Given the description of an element on the screen output the (x, y) to click on. 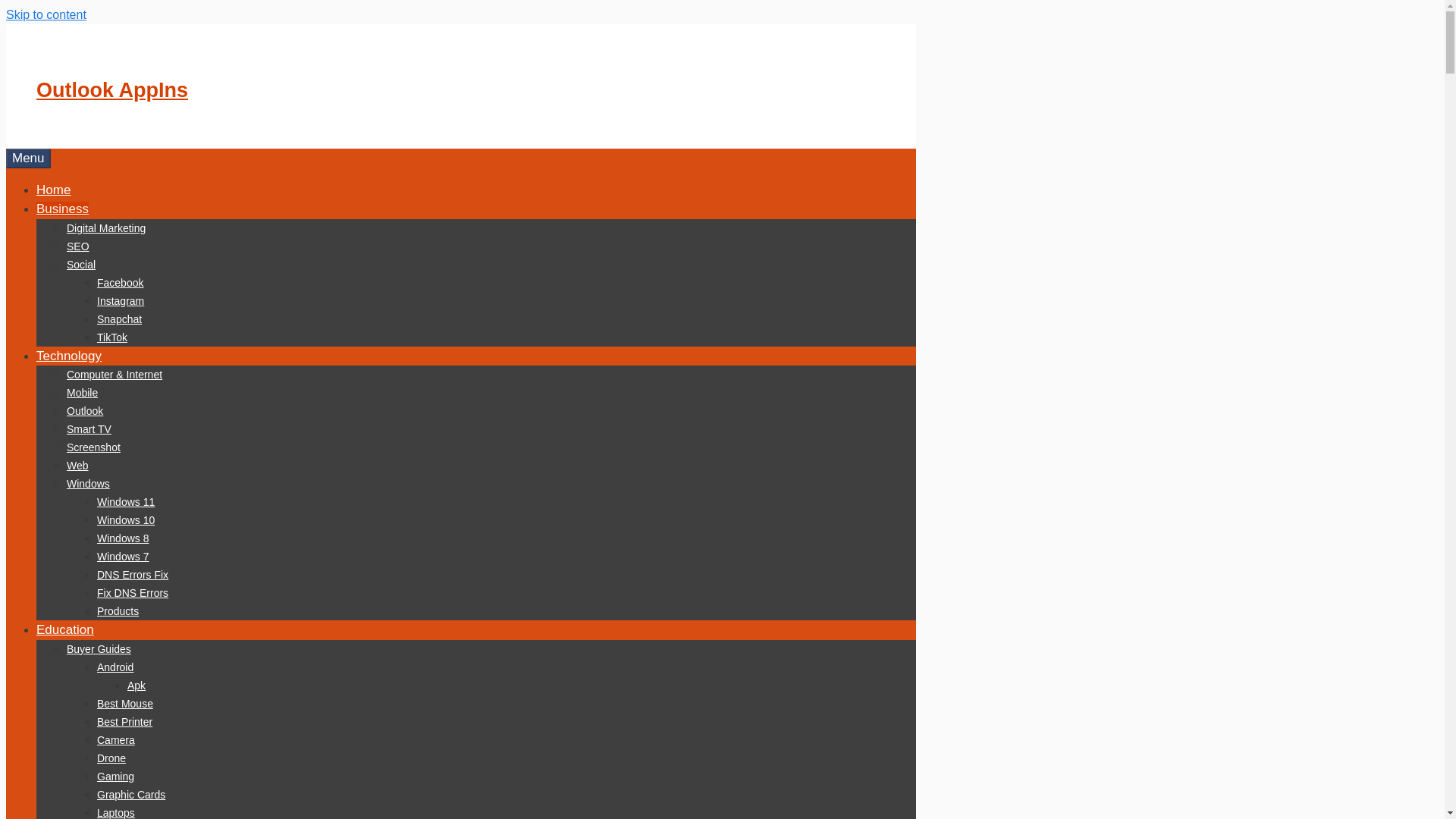
Windows (88, 483)
Web (77, 465)
Mobile (81, 392)
Windows 7 (122, 556)
Best Mouse (124, 703)
Skip to content (45, 14)
TikTok (112, 336)
Drone (111, 758)
Instagram (120, 300)
Skip to content (45, 14)
